Given the description of an element on the screen output the (x, y) to click on. 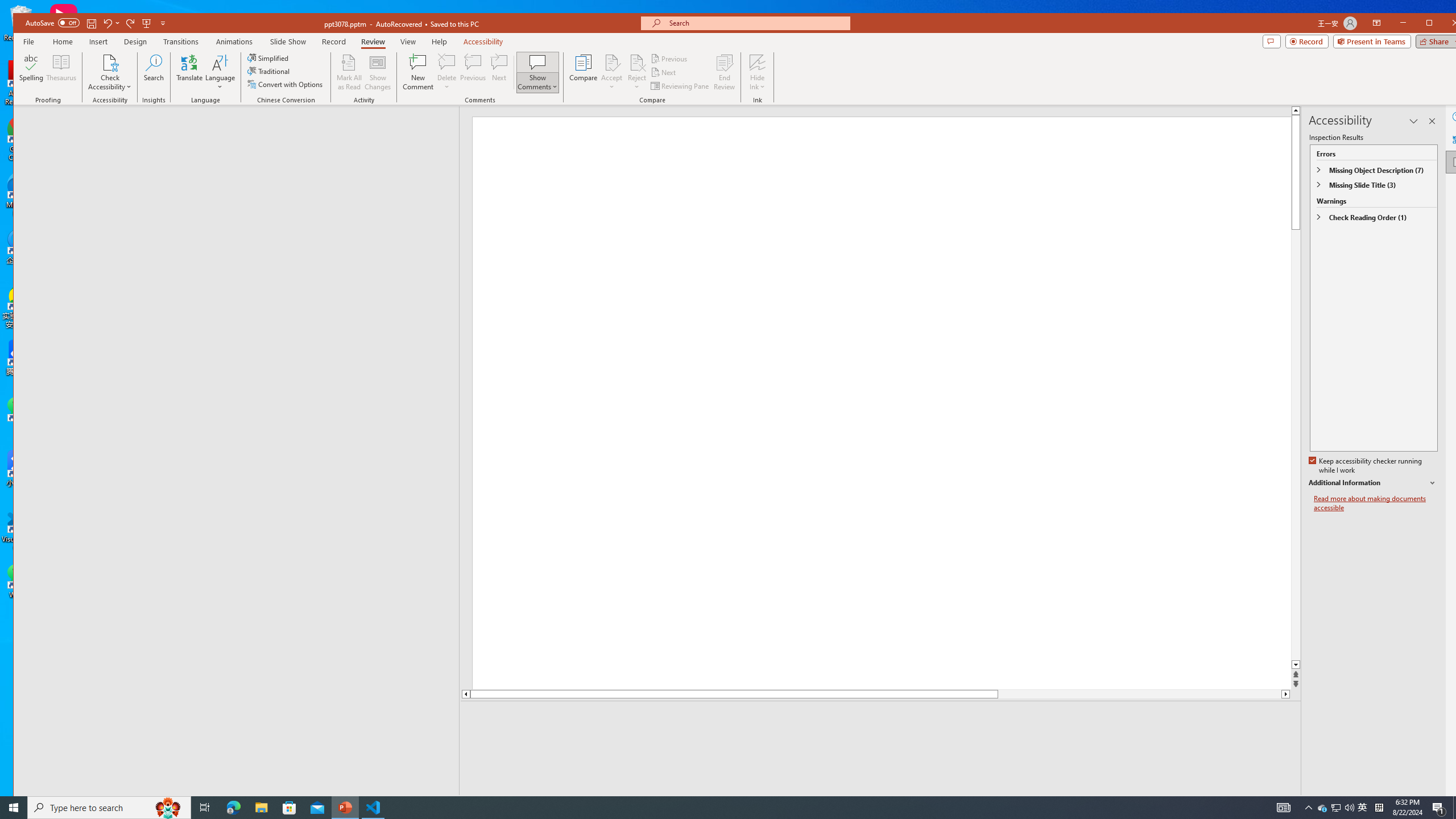
Reviewing Pane (680, 85)
Maximize (1445, 24)
Line up (465, 693)
Rectangle (229, 450)
Keep accessibility checker running while I work (1365, 465)
Accept Change (611, 61)
Accept (611, 72)
